Given the description of an element on the screen output the (x, y) to click on. 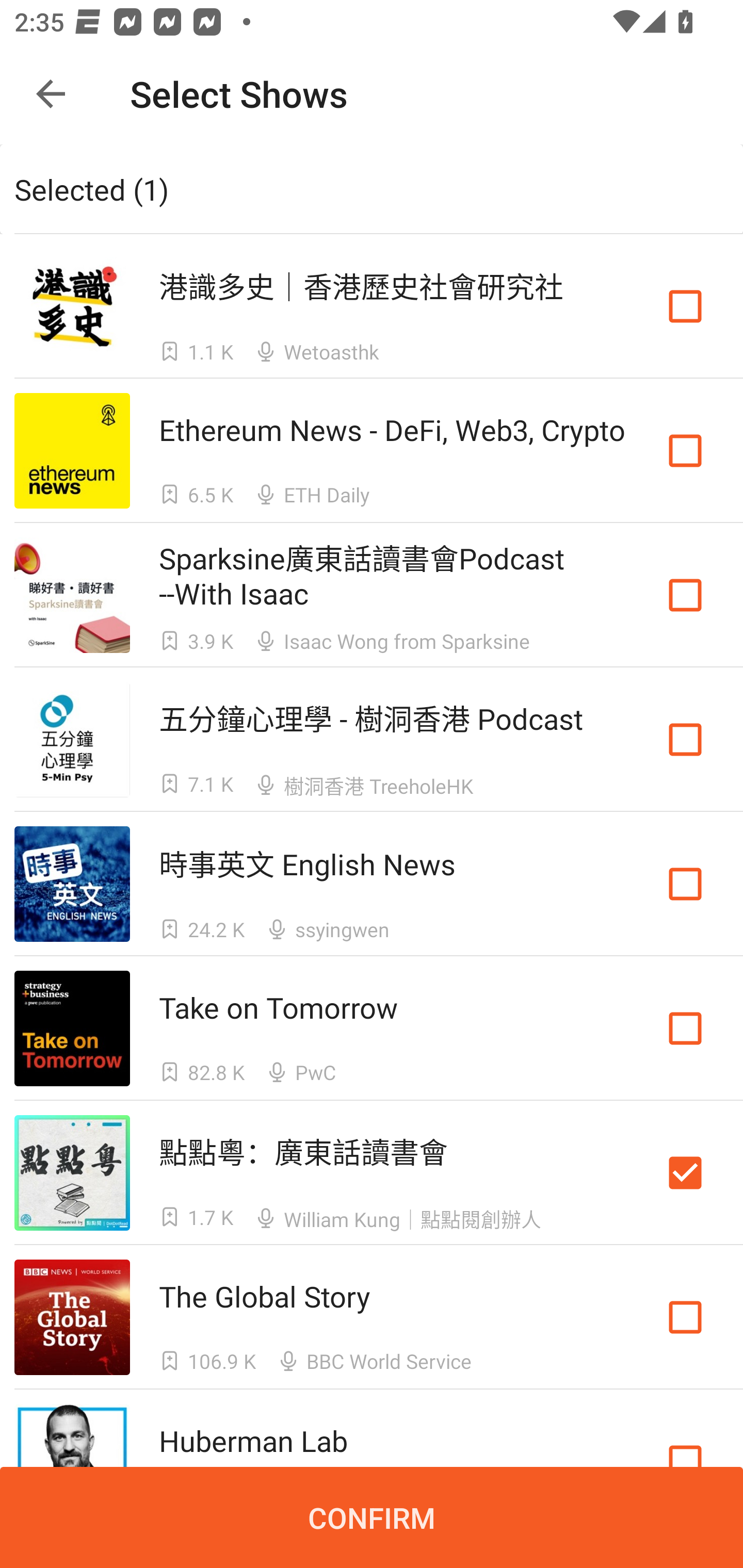
Navigate up (50, 93)
港識多史｜香港歷史社會研究社 港識多史｜香港歷史社會研究社  1.1 K  Wetoasthk (371, 305)
Take on Tomorrow Take on Tomorrow  82.8 K  PwC (371, 1028)
CONFIRM (371, 1517)
